Given the description of an element on the screen output the (x, y) to click on. 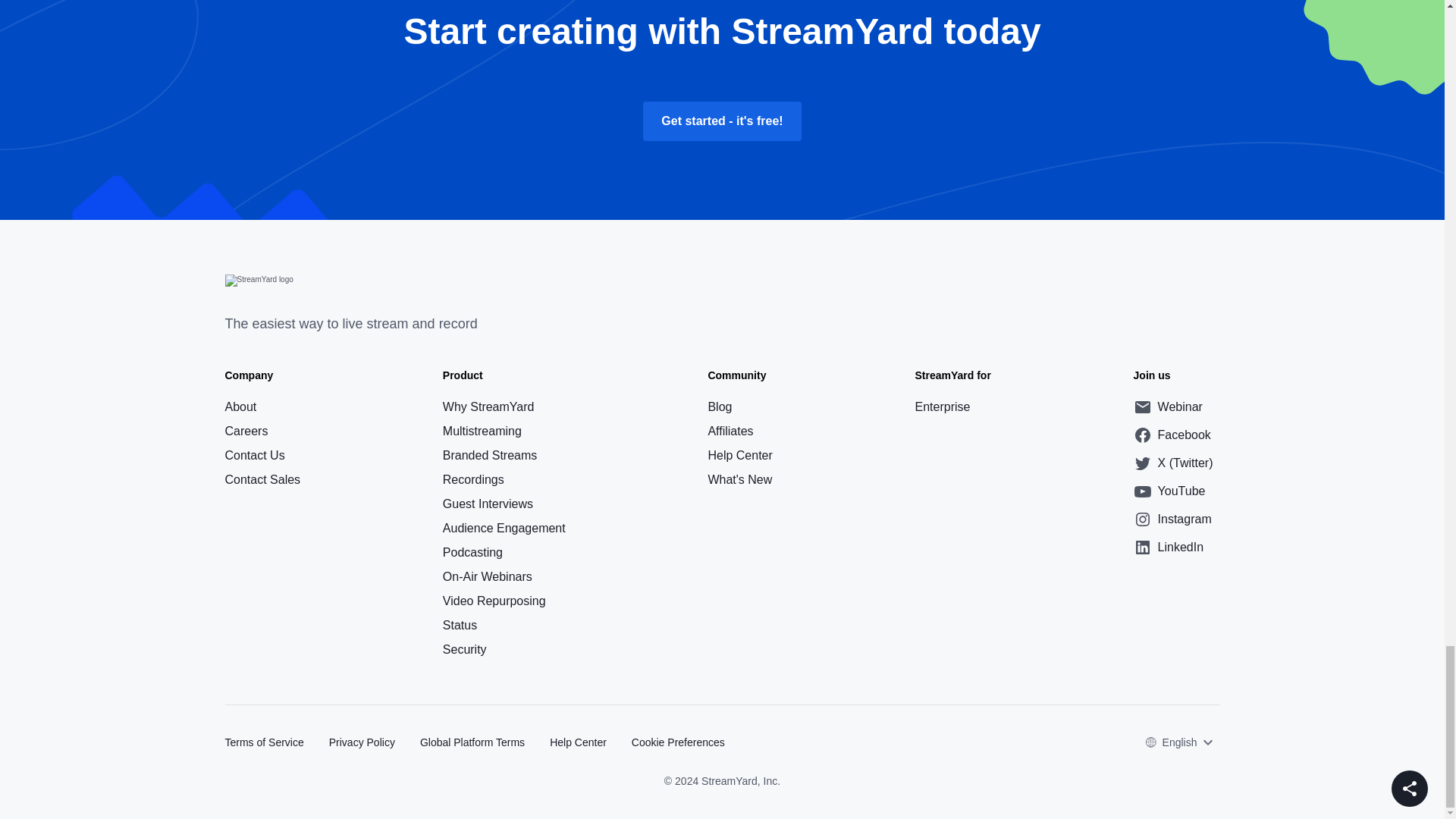
Audience Engagement (504, 528)
Why StreamYard (504, 406)
Video Repurposing (504, 601)
Guest Interviews (504, 503)
Recordings (504, 479)
Multistreaming (504, 431)
Podcasting (504, 552)
On-Air Webinars (504, 576)
Contact Sales (261, 406)
